Given the description of an element on the screen output the (x, y) to click on. 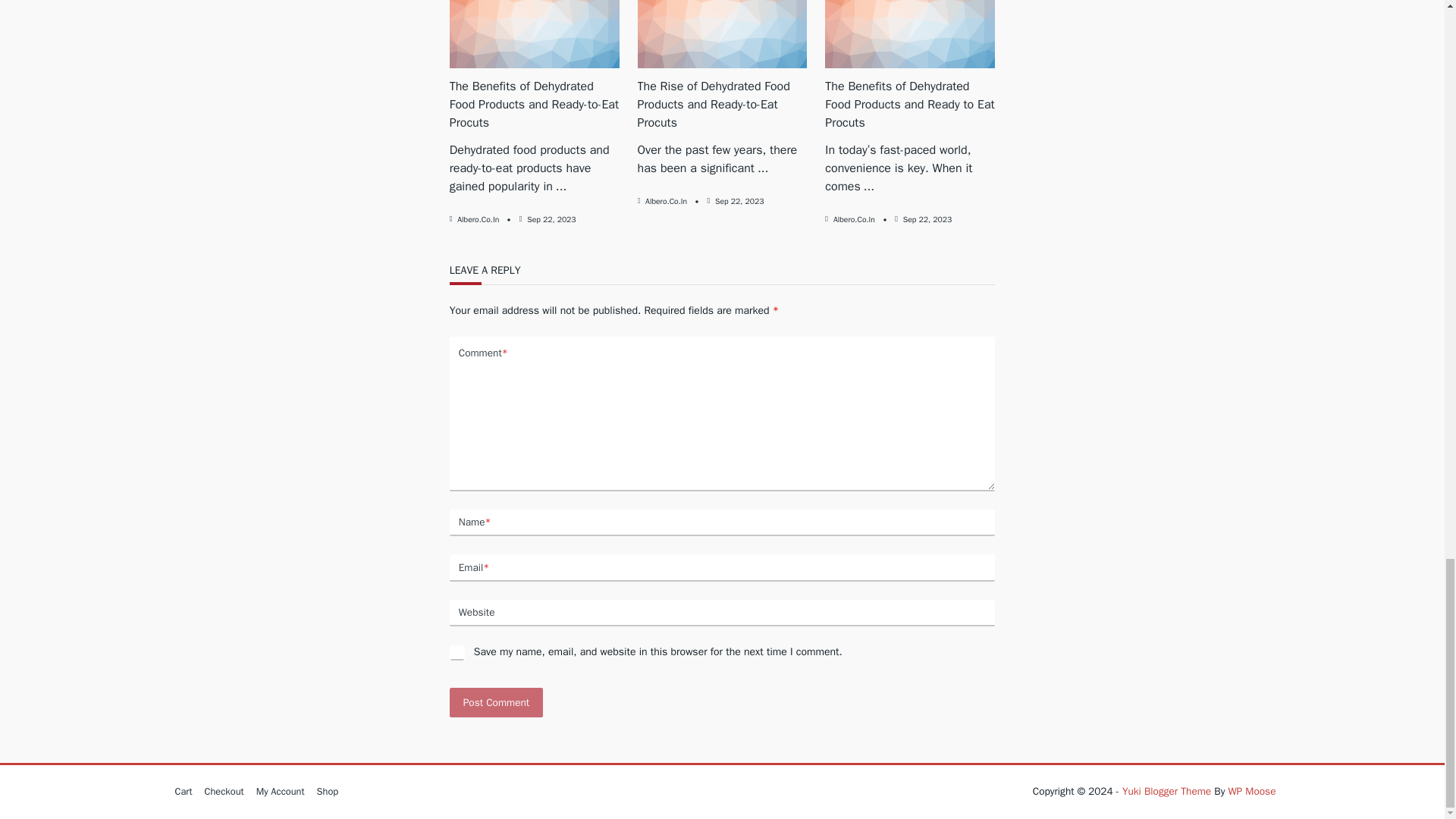
yes (456, 652)
Post Comment (496, 702)
Albero.Co.In (478, 219)
Sep 22, 2023 (551, 219)
